Given the description of an element on the screen output the (x, y) to click on. 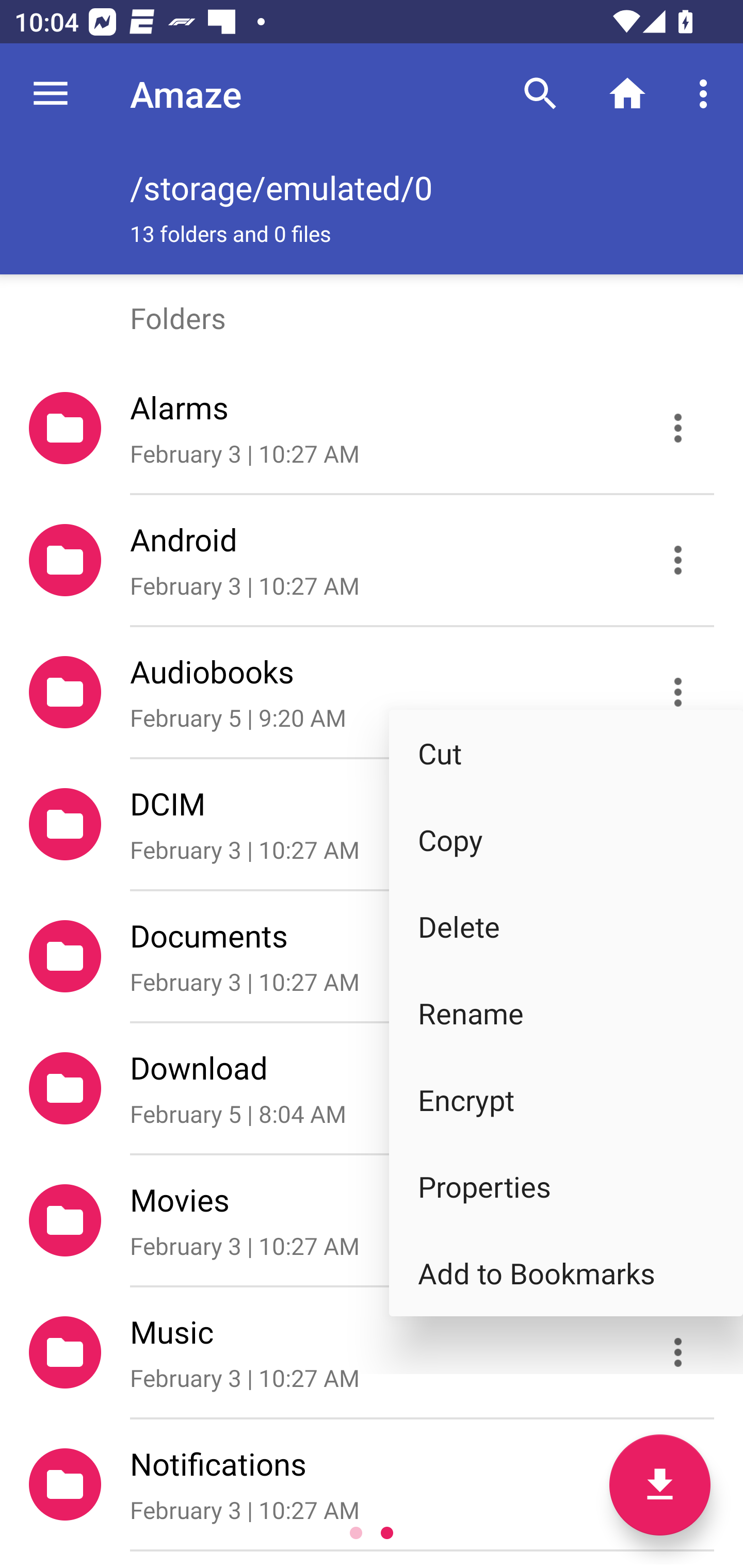
Cut (566, 753)
Copy (566, 839)
Delete (566, 925)
Rename (566, 1012)
Encrypt (566, 1099)
Properties (566, 1186)
Add to Bookmarks (566, 1272)
